Given the description of an element on the screen output the (x, y) to click on. 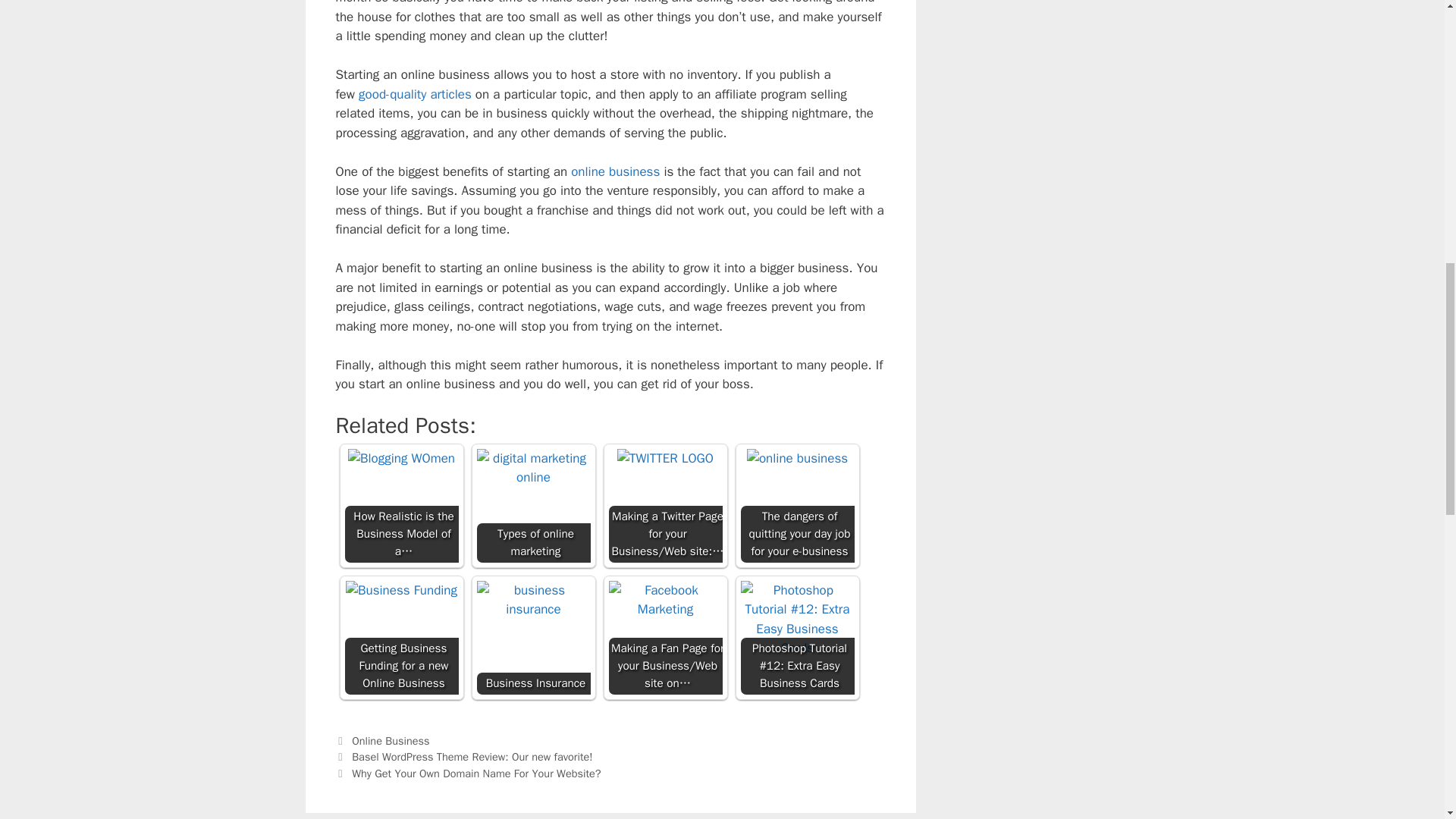
Types of online marketing (532, 467)
Business Insurance (532, 599)
The dangers of quitting your day job for your e-business (796, 458)
Getting Business Funding for a new Online Business (401, 590)
Scroll back to top (1406, 720)
